Given the description of an element on the screen output the (x, y) to click on. 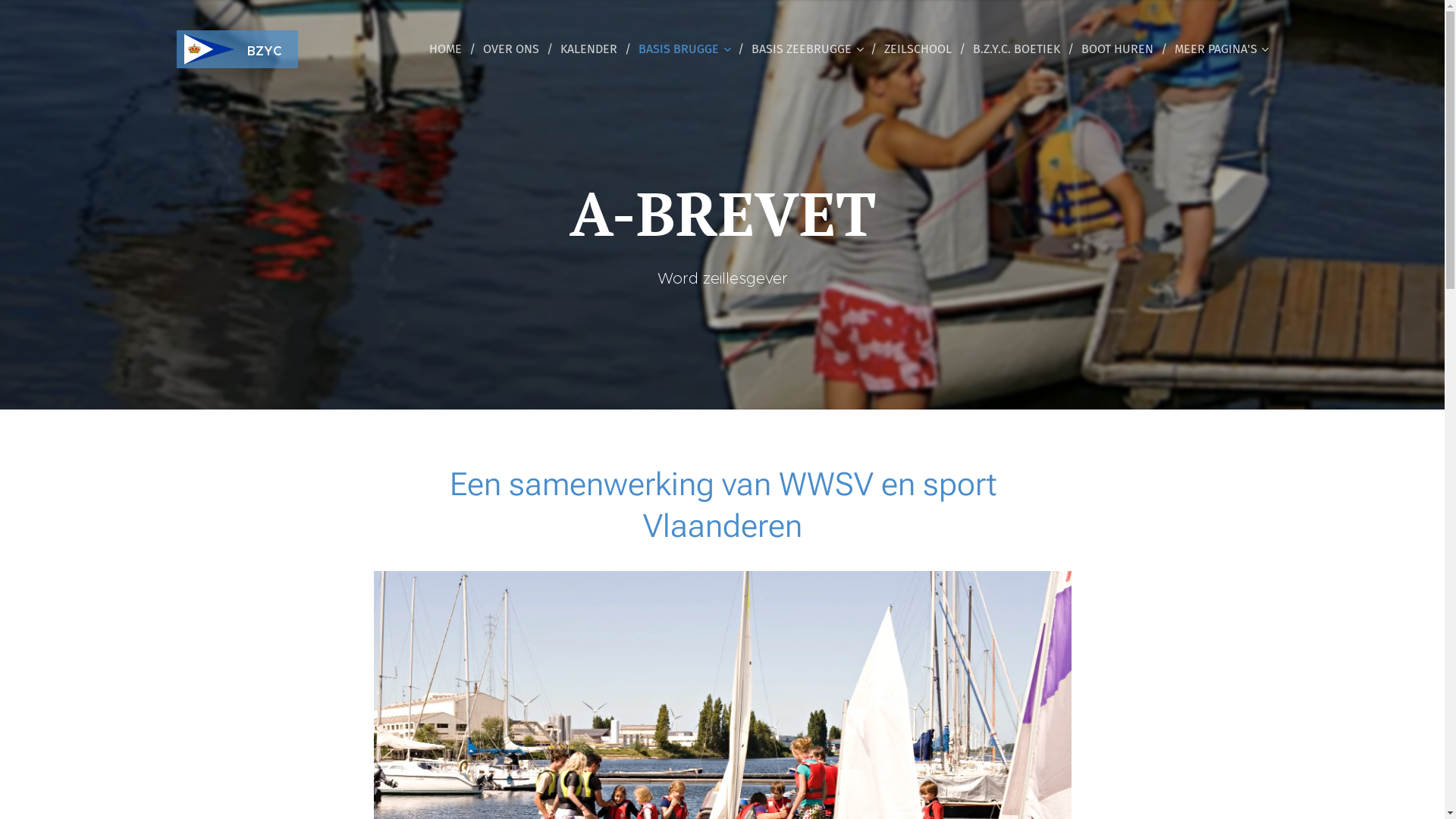
KALENDER Element type: text (591, 49)
ZEILSCHOOL Element type: text (920, 49)
MEER PAGINA'S Element type: text (1216, 49)
BOOT HUREN Element type: text (1120, 49)
B.Z.Y.C. BOETIEK Element type: text (1018, 49)
OVER ONS Element type: text (513, 49)
BASIS BRUGGE Element type: text (686, 49)
BASIS ZEEBRUGGE Element type: text (809, 49)
 BZYC   Element type: text (237, 48)
HOME Element type: text (449, 49)
